Given the description of an element on the screen output the (x, y) to click on. 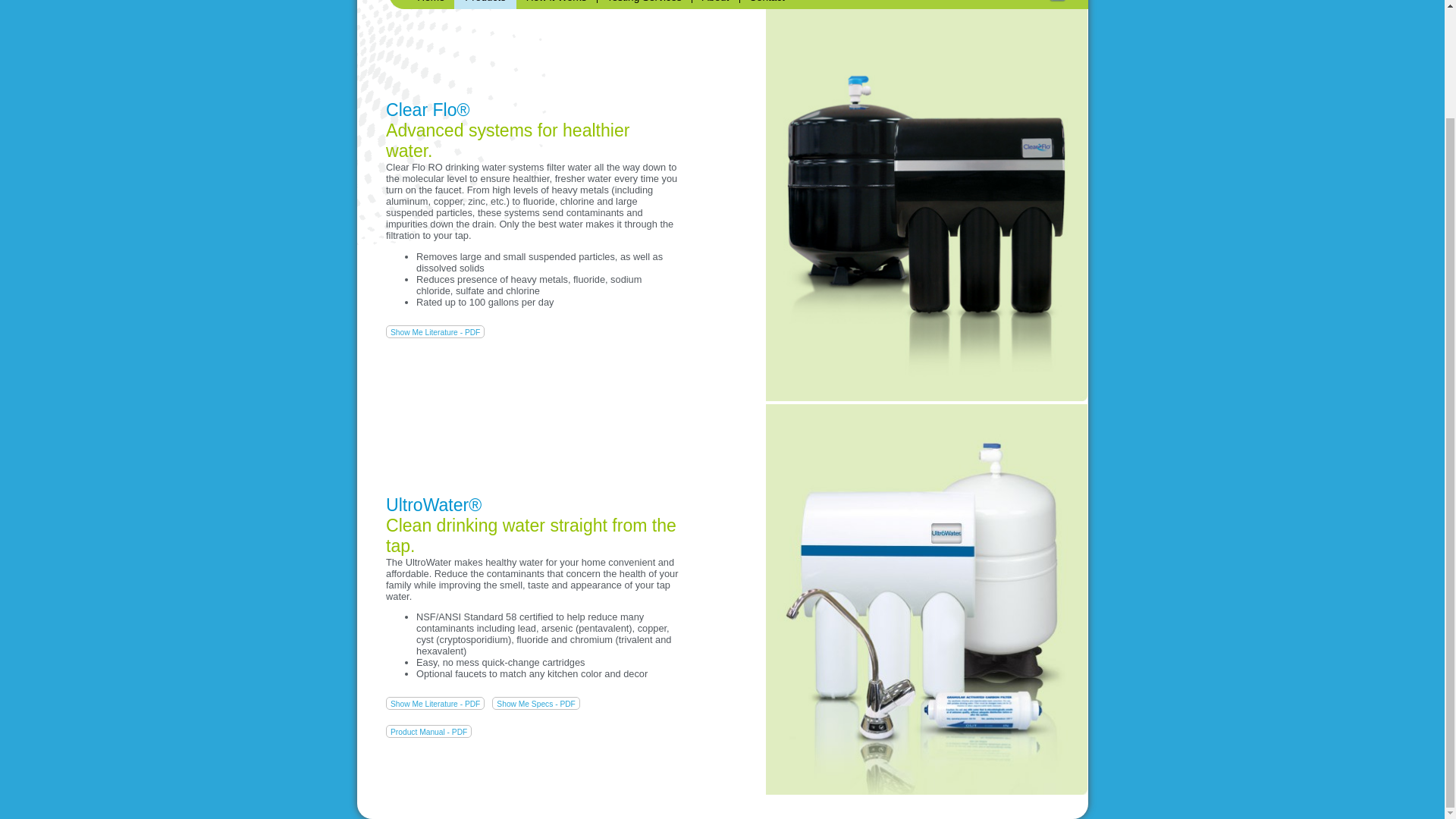
Product Manual - PDF (428, 730)
How it Works (555, 4)
Show Me Literature - PDF (434, 703)
Show Me Specs - PDF (535, 703)
Products (485, 4)
Contact (767, 4)
Show Me Literature - PDF (434, 331)
Testing Services (644, 4)
Home (430, 4)
About (714, 4)
